Given the description of an element on the screen output the (x, y) to click on. 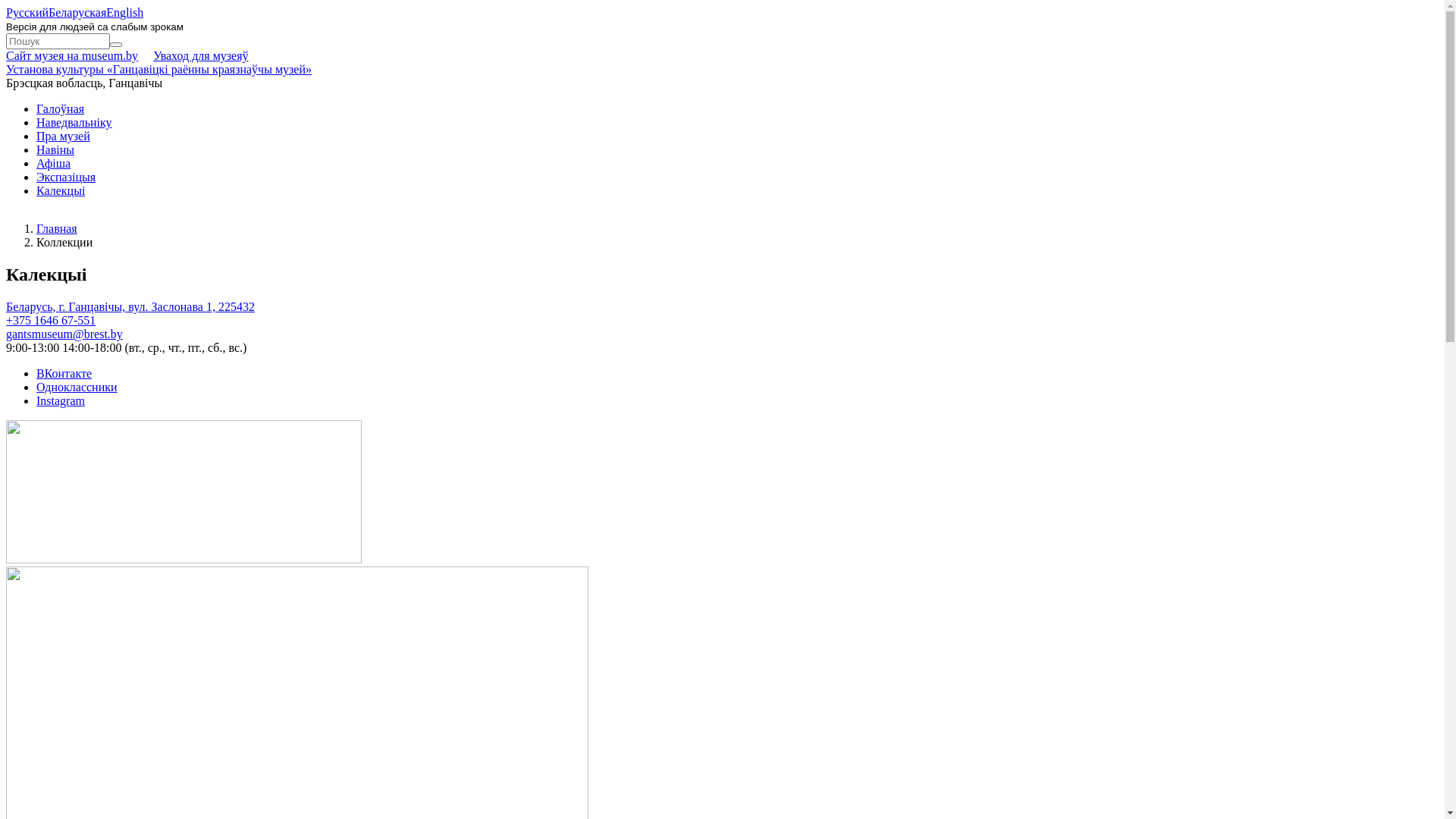
English Element type: text (124, 12)
+375 1646 67-551 Element type: text (50, 319)
gantsmuseum@brest.by Element type: text (64, 333)
Instagram Element type: text (60, 400)
